Given the description of an element on the screen output the (x, y) to click on. 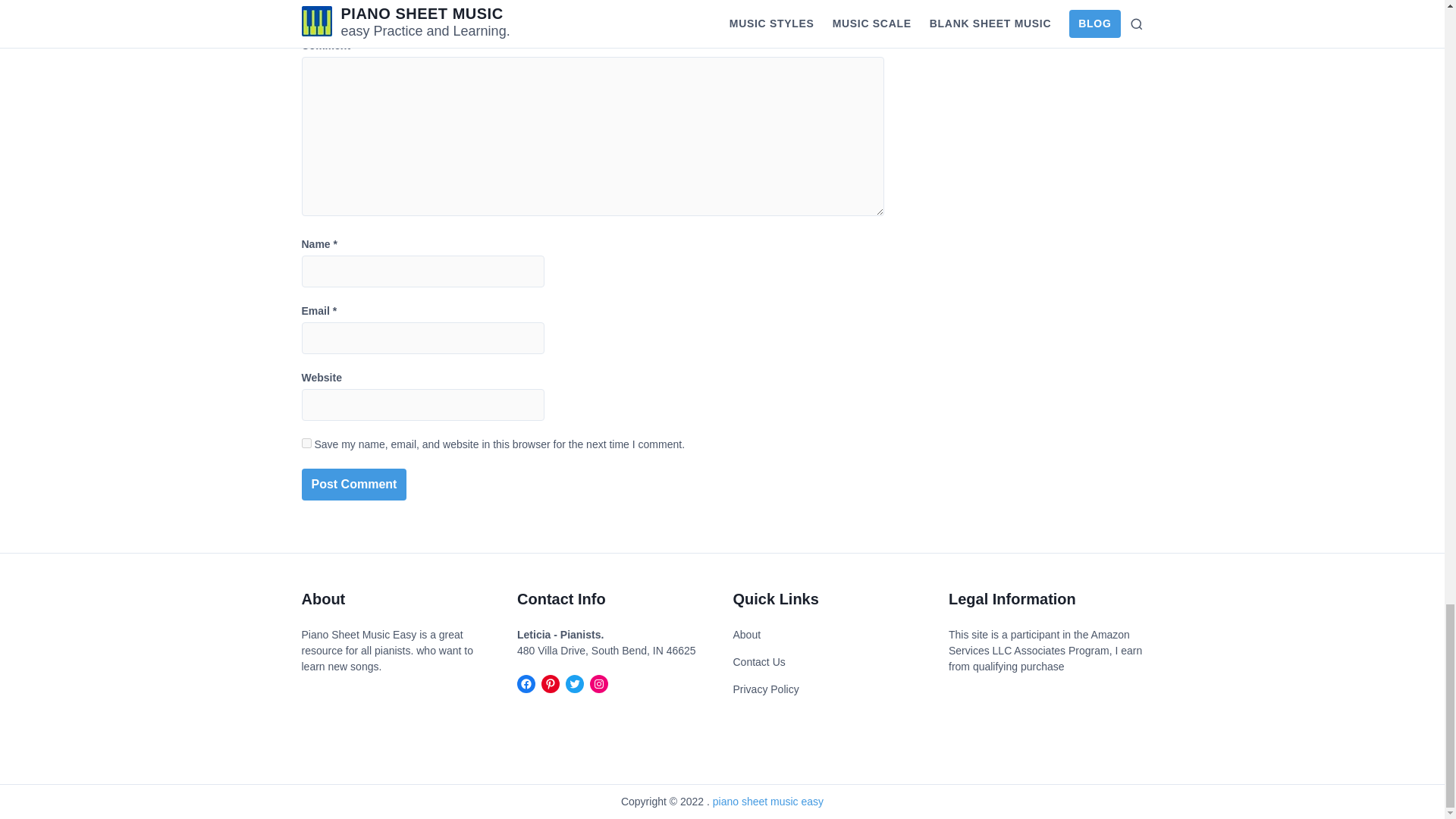
Instagram (598, 683)
Post Comment (354, 484)
piano sheet music easy (768, 801)
Contact Us (758, 662)
DMCA.com Protection Status (347, 705)
Privacy Policy (764, 689)
Facebook (525, 683)
Post Comment (354, 484)
Twitter (574, 683)
yes (306, 442)
About (746, 634)
Pinterest (550, 683)
